Given the description of an element on the screen output the (x, y) to click on. 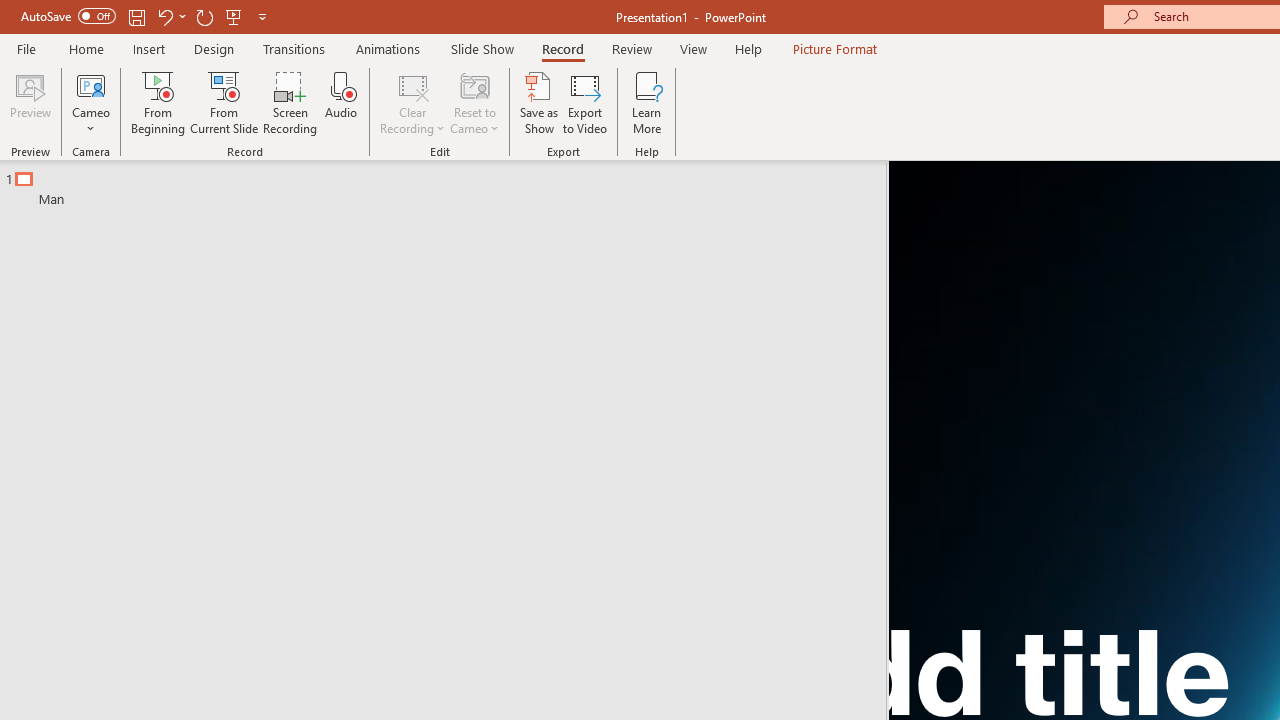
Animations (388, 48)
Insert (149, 48)
Audio (341, 102)
Design (214, 48)
Customize Quick Access Toolbar (262, 15)
Learn More (646, 102)
File Tab (26, 48)
Save (136, 15)
Outline (452, 184)
Save as Show (539, 102)
Help (748, 48)
From Beginning (234, 15)
Review (631, 48)
